Given the description of an element on the screen output the (x, y) to click on. 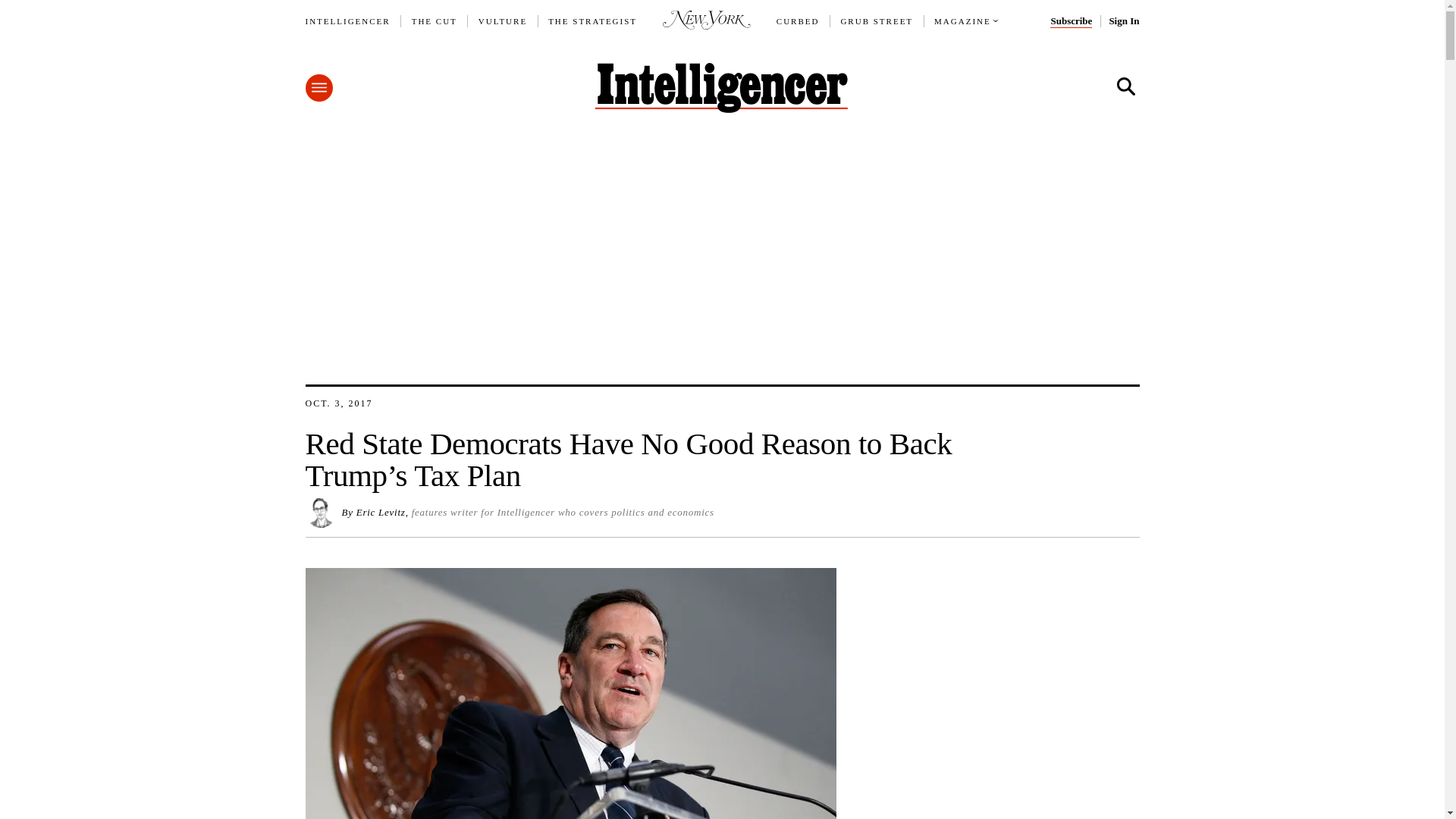
GRUB STREET (876, 21)
Search (1124, 86)
Sign In (1123, 21)
Search (1124, 86)
VULTURE (503, 21)
CURBED (797, 21)
Menu (317, 87)
THE CUT (434, 21)
Subscribe (1070, 21)
INTELLIGENCER (347, 21)
